Given the description of an element on the screen output the (x, y) to click on. 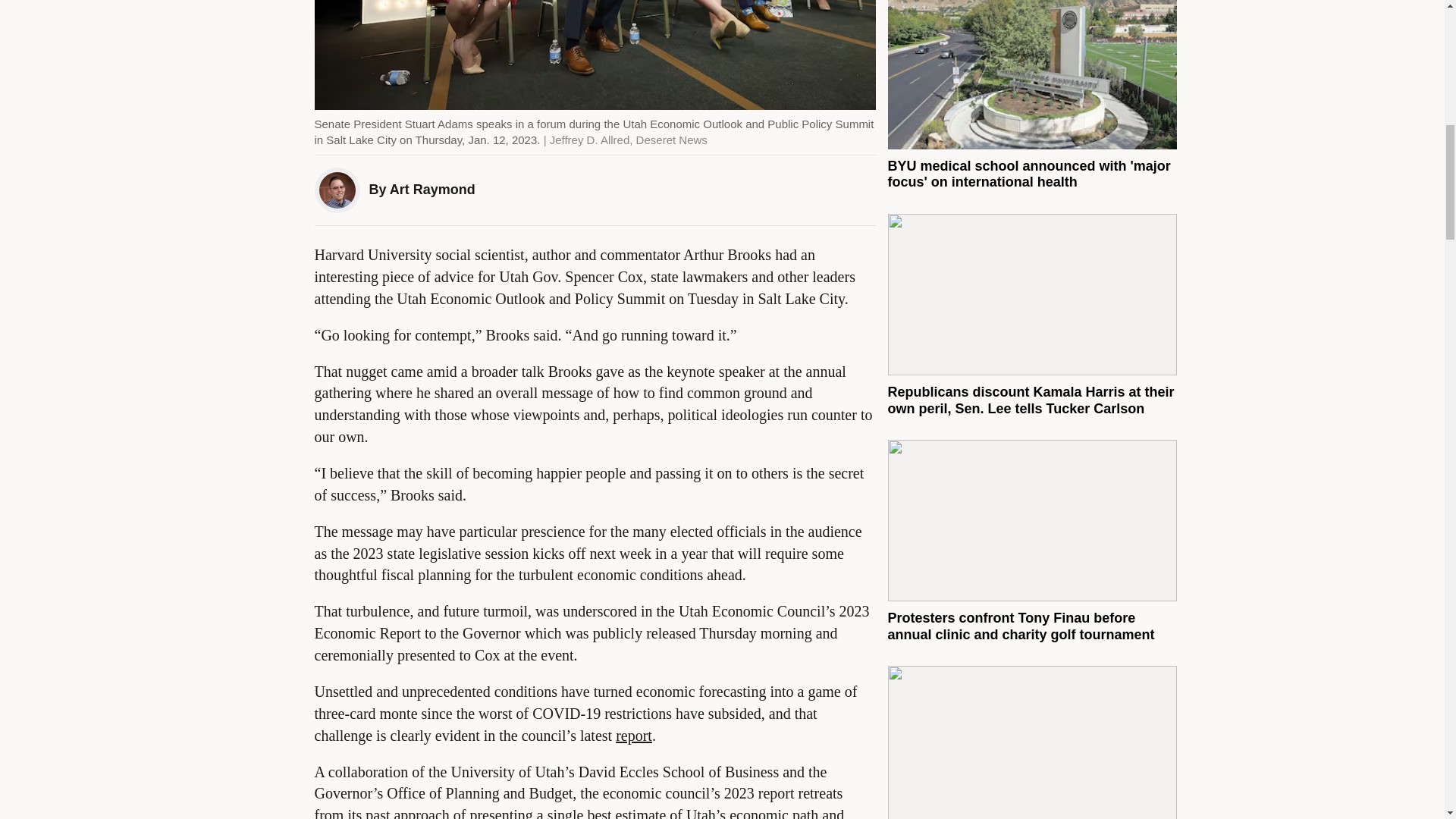
Art Raymond (433, 189)
report (633, 735)
